Given the description of an element on the screen output the (x, y) to click on. 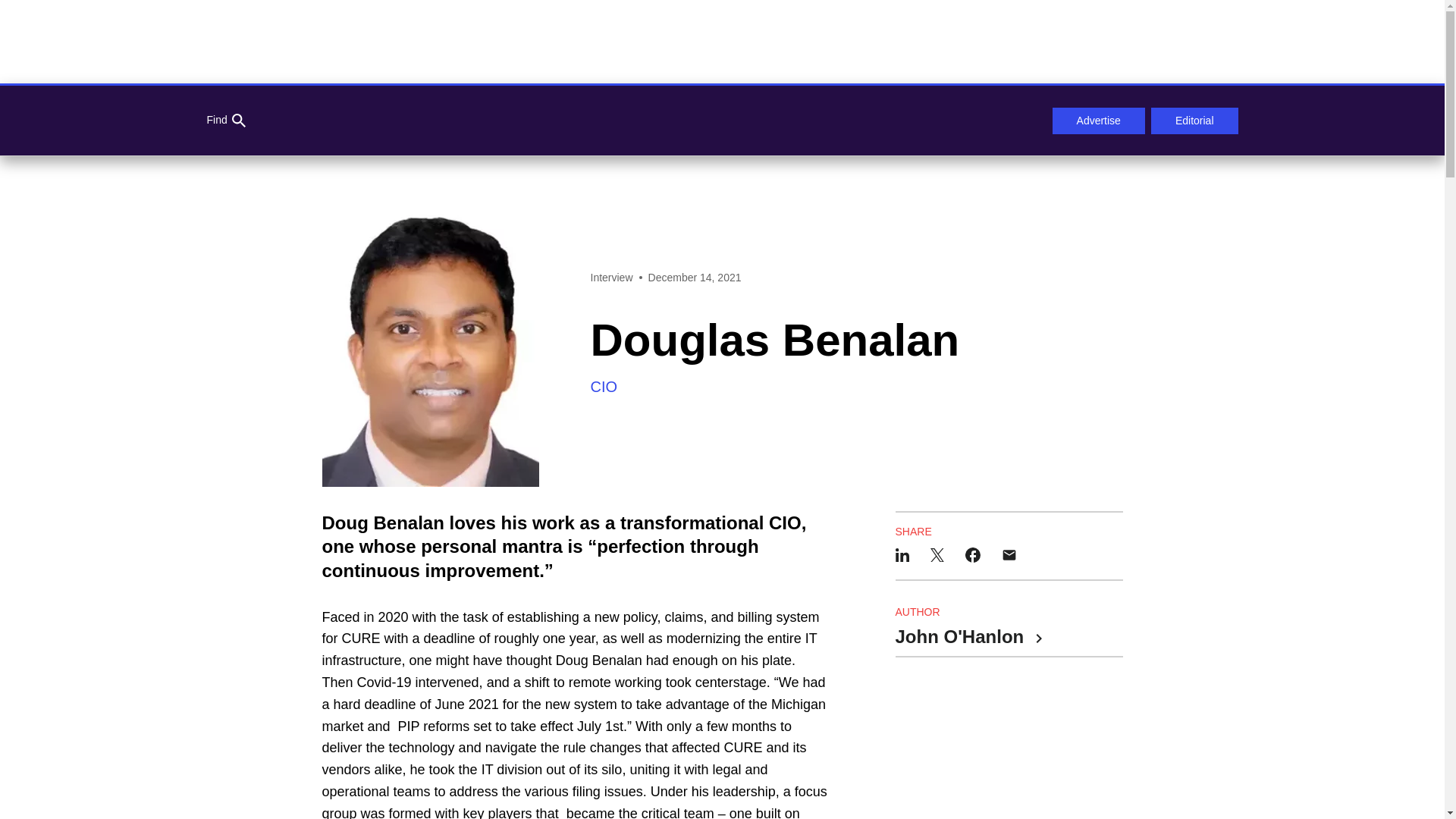
Advertise (1098, 121)
Find (225, 120)
John O'Hanlon (968, 637)
Editorial (1195, 121)
